Given the description of an element on the screen output the (x, y) to click on. 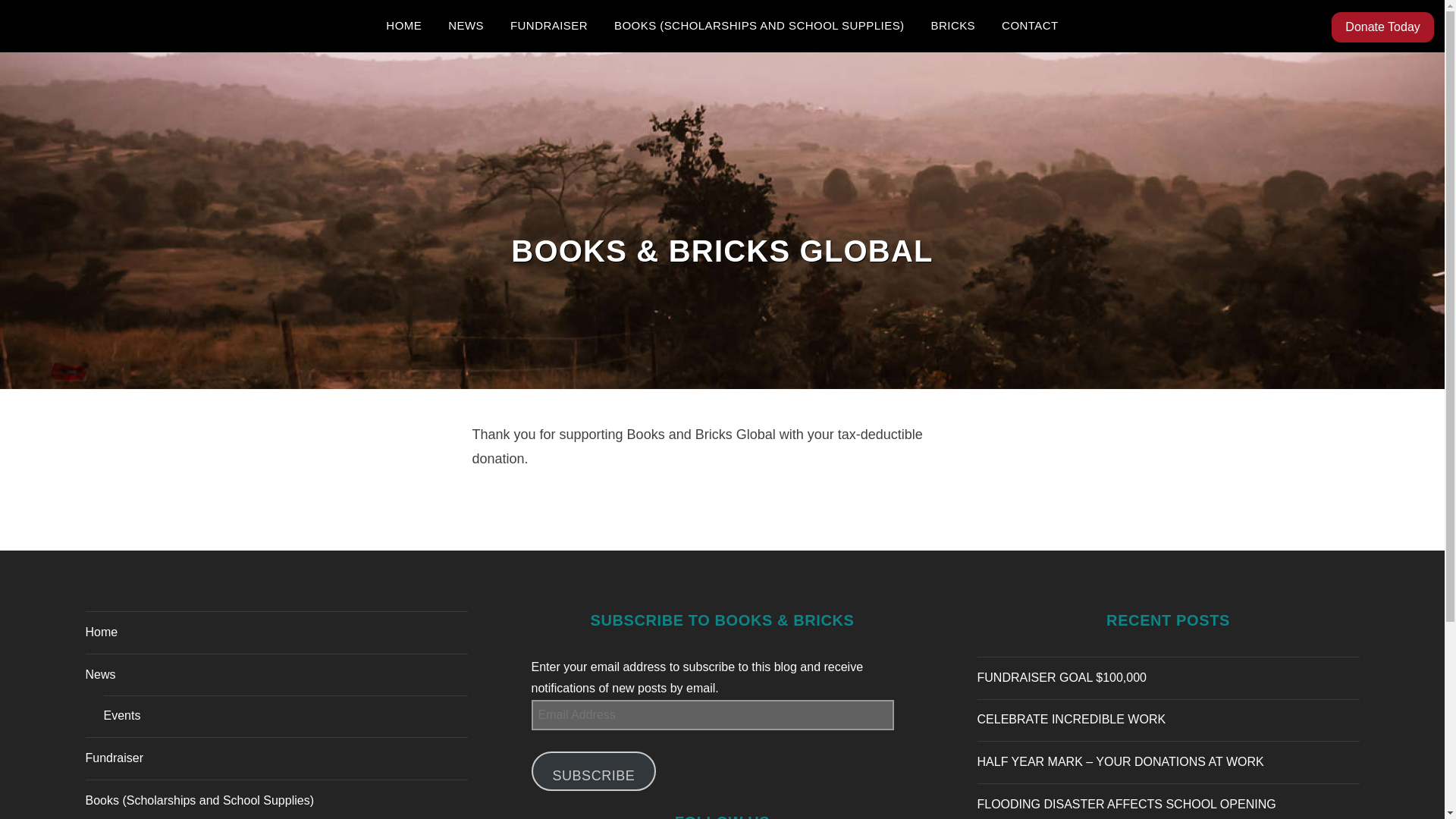
HOME (404, 26)
SUBSCRIBE (593, 771)
FLOODING DISASTER AFFECTS SCHOOL OPENING (1125, 803)
Donate Today (1382, 27)
Fundraiser (113, 757)
News (99, 674)
CONTACT (1029, 26)
Home (100, 631)
NEWS (465, 26)
CELEBRATE INCREDIBLE WORK (1071, 718)
